Given the description of an element on the screen output the (x, y) to click on. 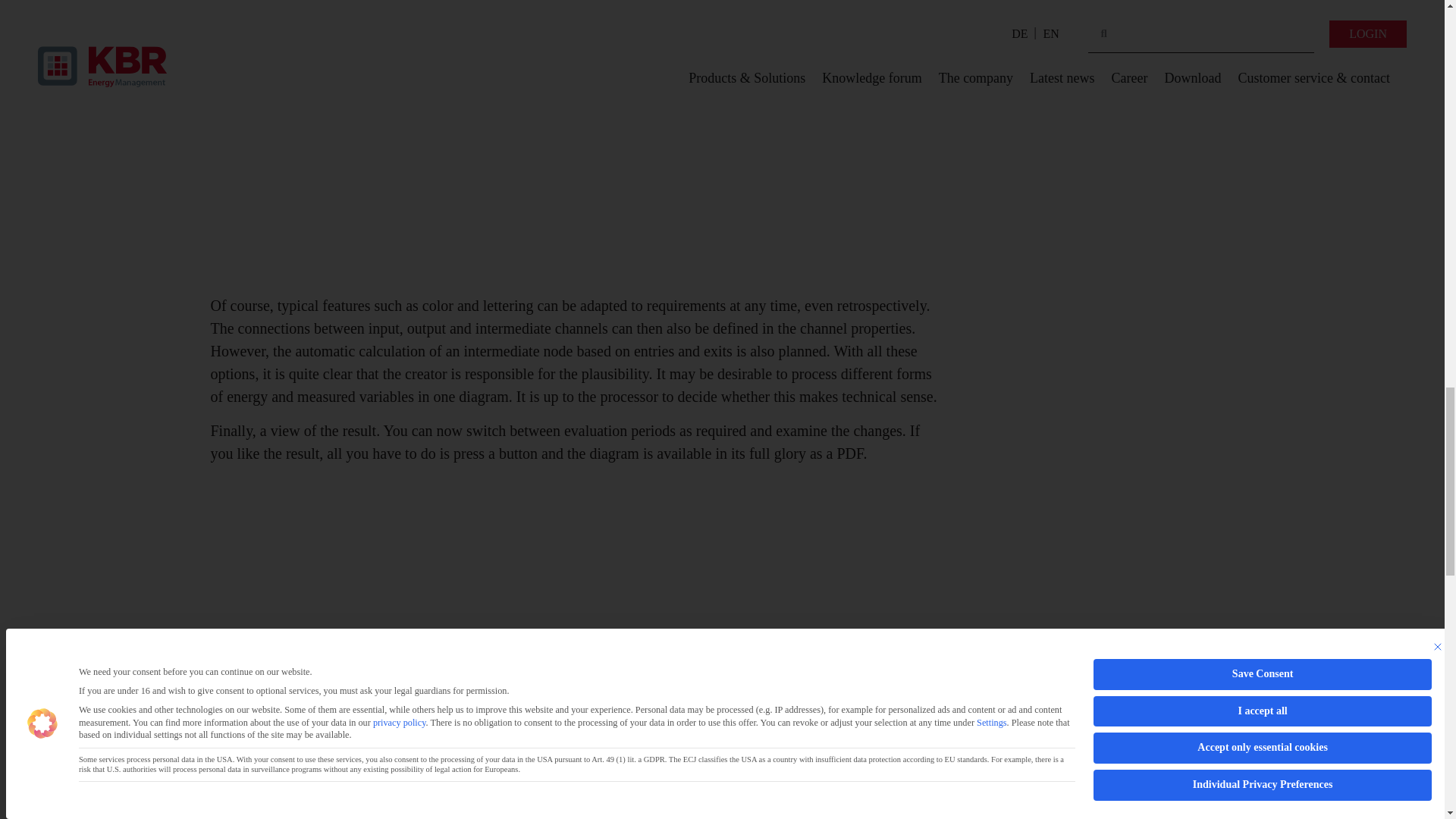
visual energy 5 in detail: The Sankey diagram 5 (578, 561)
visual energy 5 in detail: The Sankey diagram 4 (578, 141)
